Given the description of an element on the screen output the (x, y) to click on. 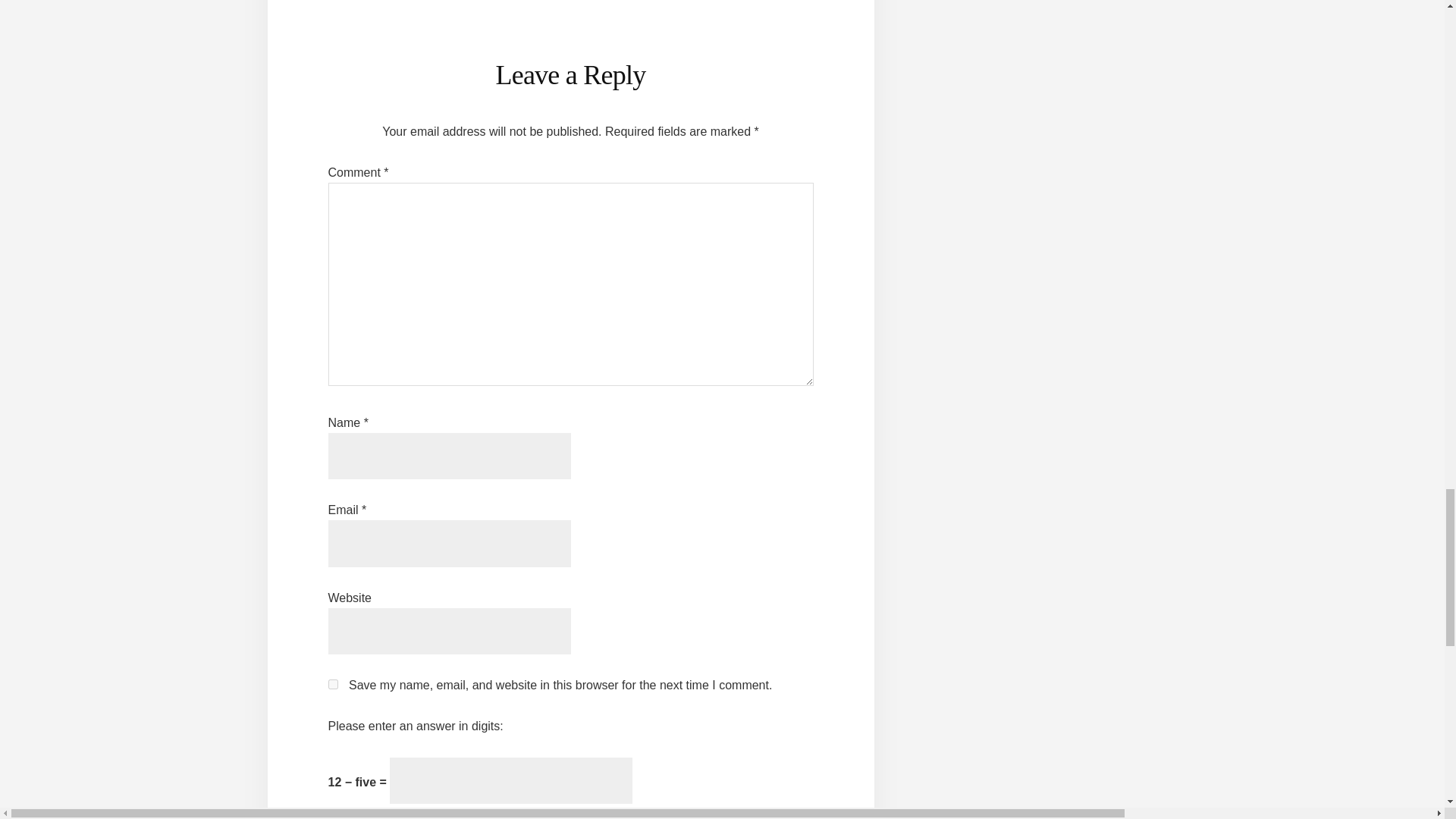
yes (332, 684)
